Given the description of an element on the screen output the (x, y) to click on. 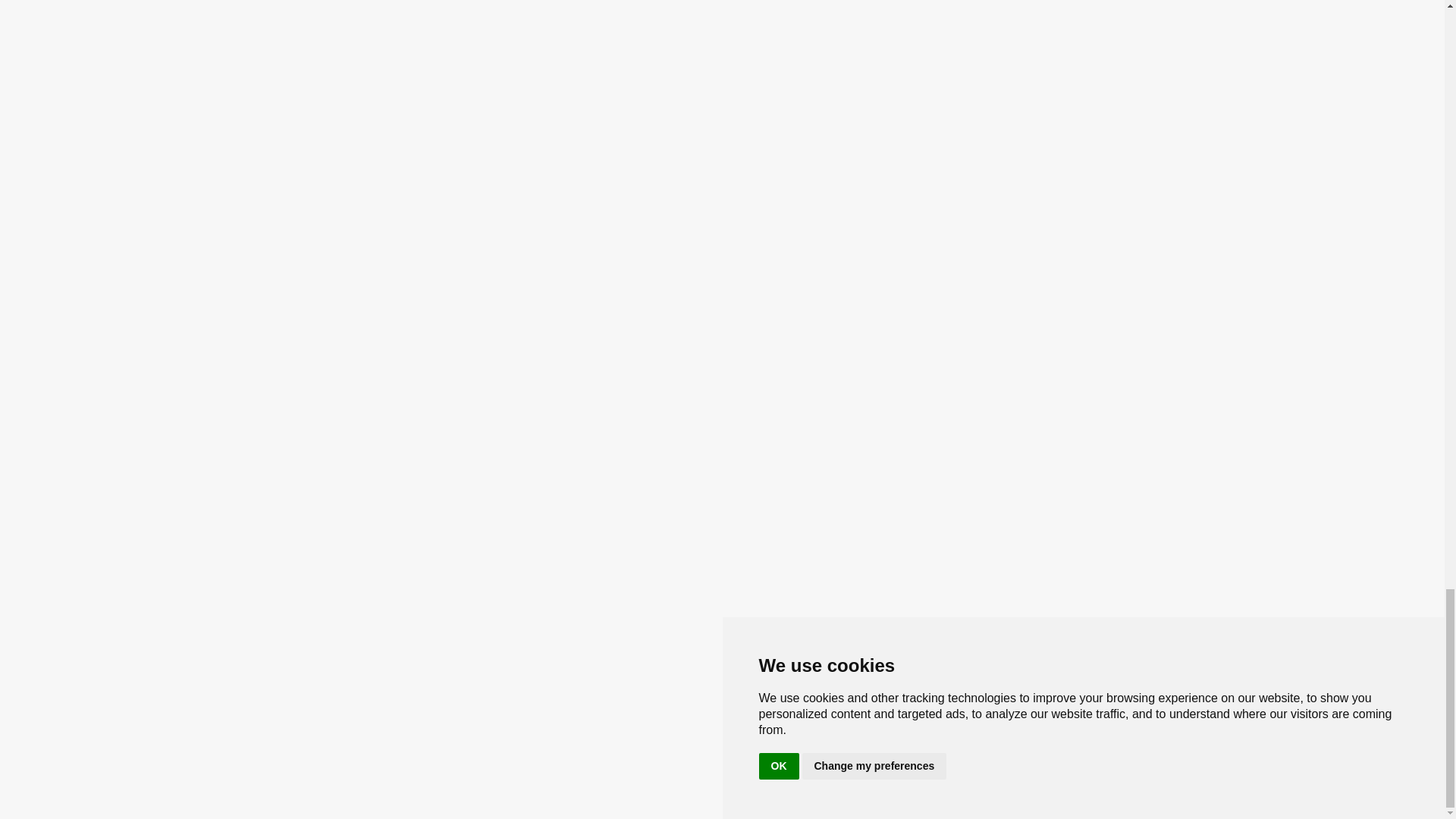
Invia (497, 219)
Invia (497, 219)
